Given the description of an element on the screen output the (x, y) to click on. 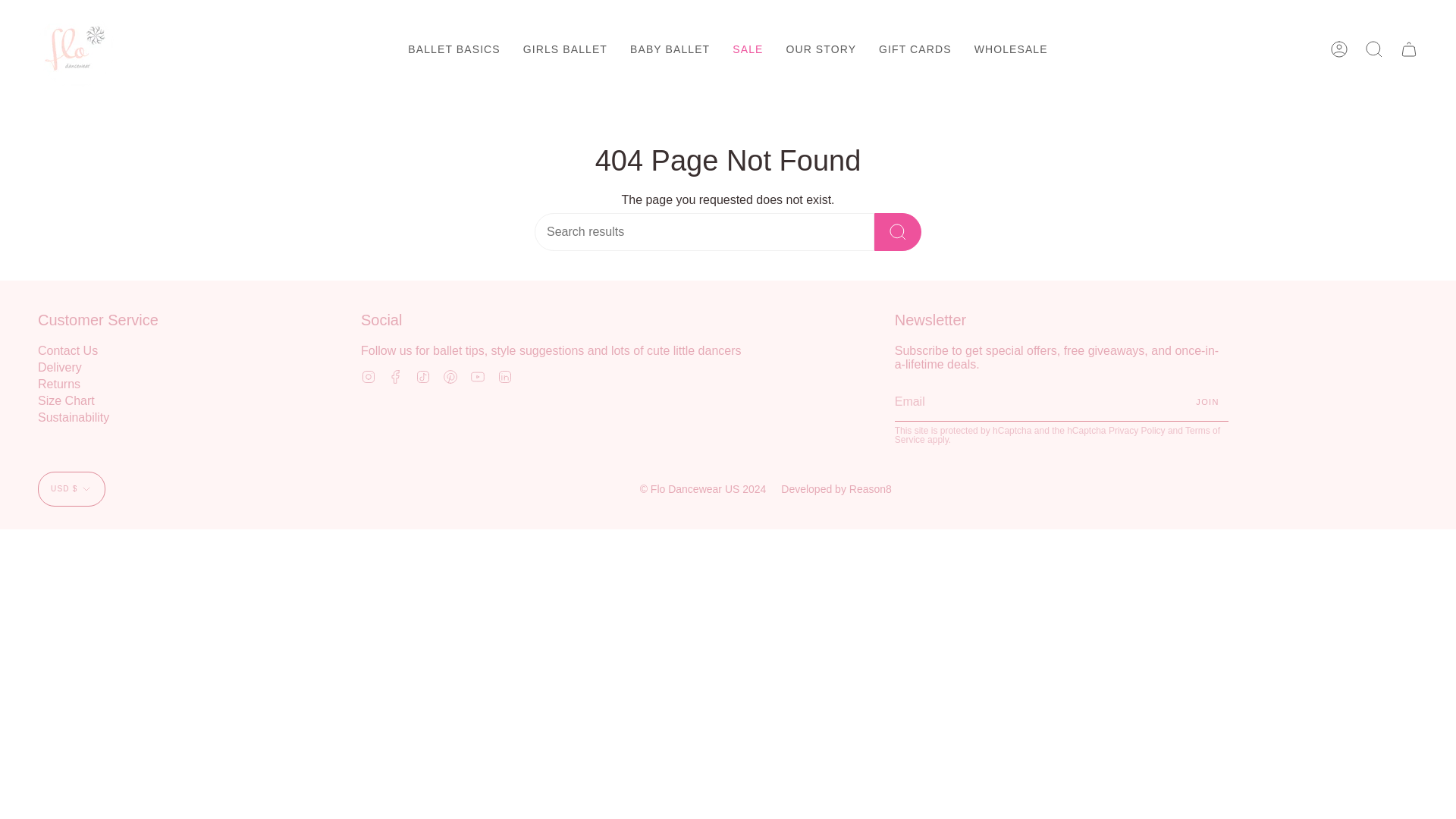
Flo Dancewear US on Instagram (368, 375)
Flo Dancewear US on Pinterest (450, 375)
GIRLS BALLET (565, 48)
Flo Dancewear US on TikTok (422, 375)
BABY BALLET (669, 48)
WHOLESALE (1010, 48)
GIFT CARDS (914, 48)
OUR STORY (820, 48)
Flo Dancewear US on Facebook (395, 375)
BALLET BASICS (453, 48)
